Given the description of an element on the screen output the (x, y) to click on. 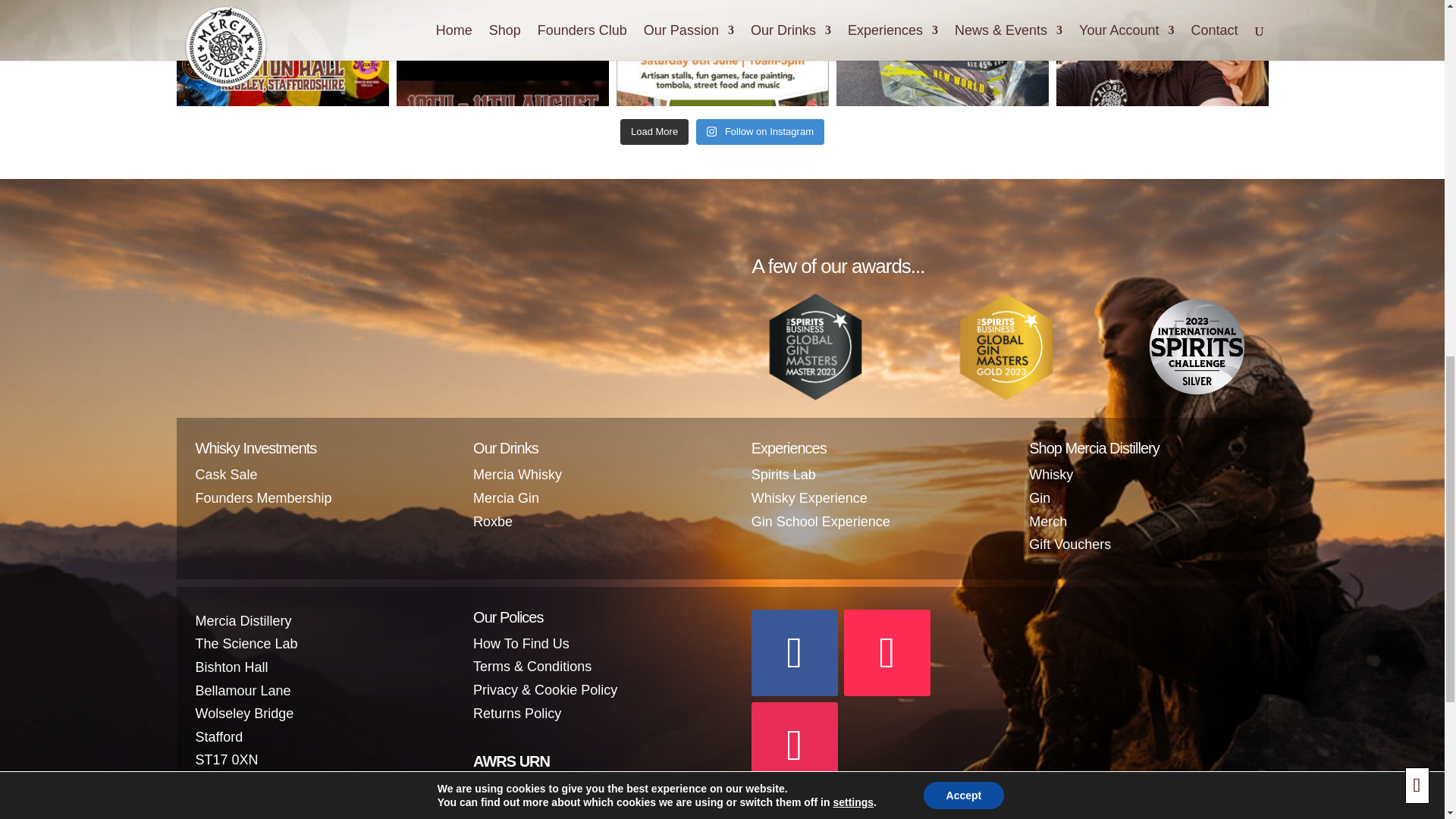
Follow on Instagram (794, 744)
Follow on TikTok (887, 652)
Follow on Facebook (794, 652)
